Given the description of an element on the screen output the (x, y) to click on. 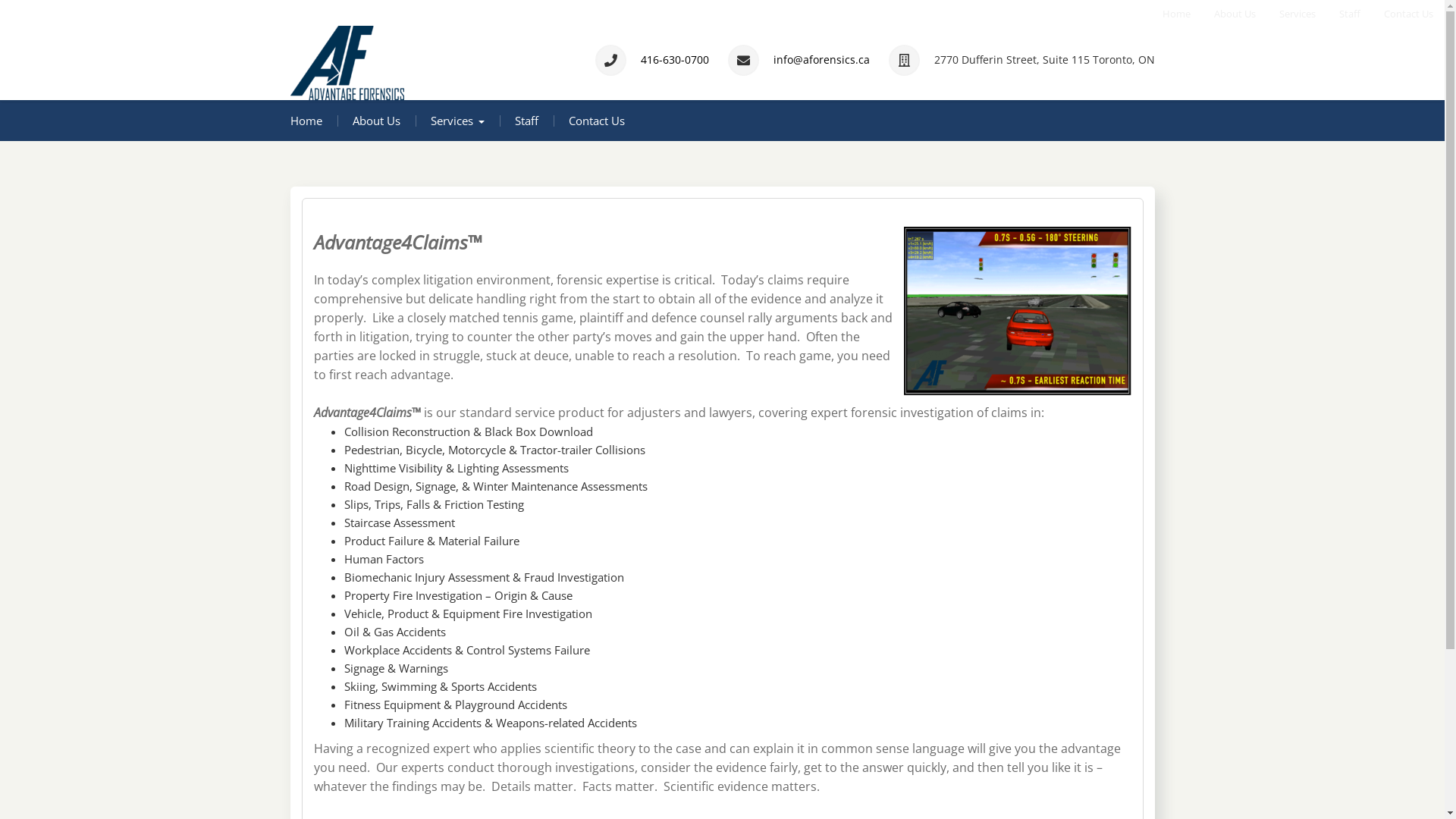
416-630-0700 Element type: text (674, 59)
Advantage Forensics Element type: text (420, 114)
Staff Element type: text (1343, 13)
Home Element type: text (1170, 13)
info@aforensics.ca Element type: text (821, 59)
About Us Element type: text (1228, 13)
Contact Us Element type: text (1402, 13)
Services Element type: text (1291, 13)
Contact Us Element type: text (596, 120)
Services Element type: text (457, 120)
Home Element type: text (305, 120)
Staff Element type: text (525, 120)
About Us Element type: text (375, 120)
